Given the description of an element on the screen output the (x, y) to click on. 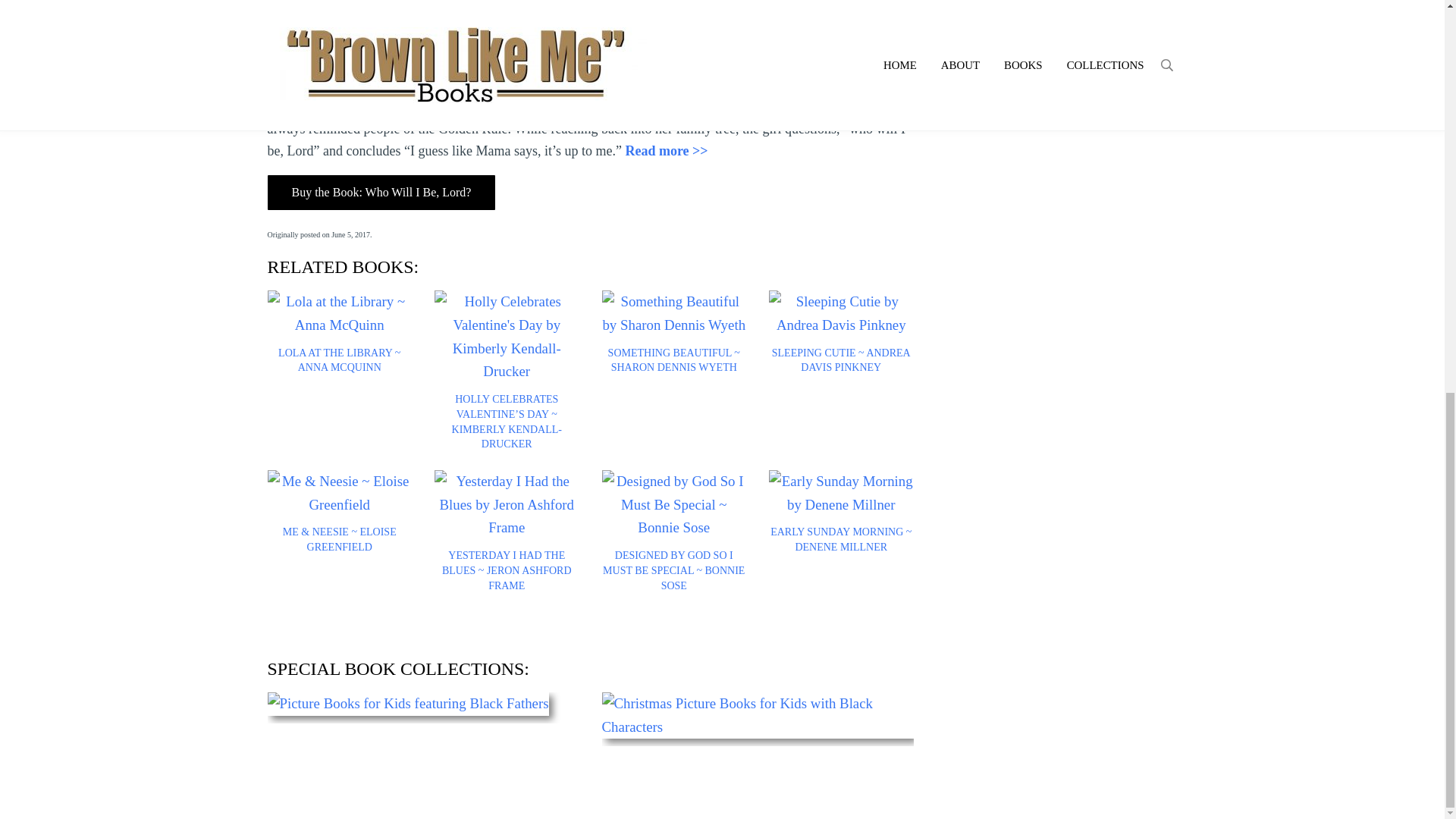
Buy the Book: Who Will I Be, Lord? (380, 192)
